Given the description of an element on the screen output the (x, y) to click on. 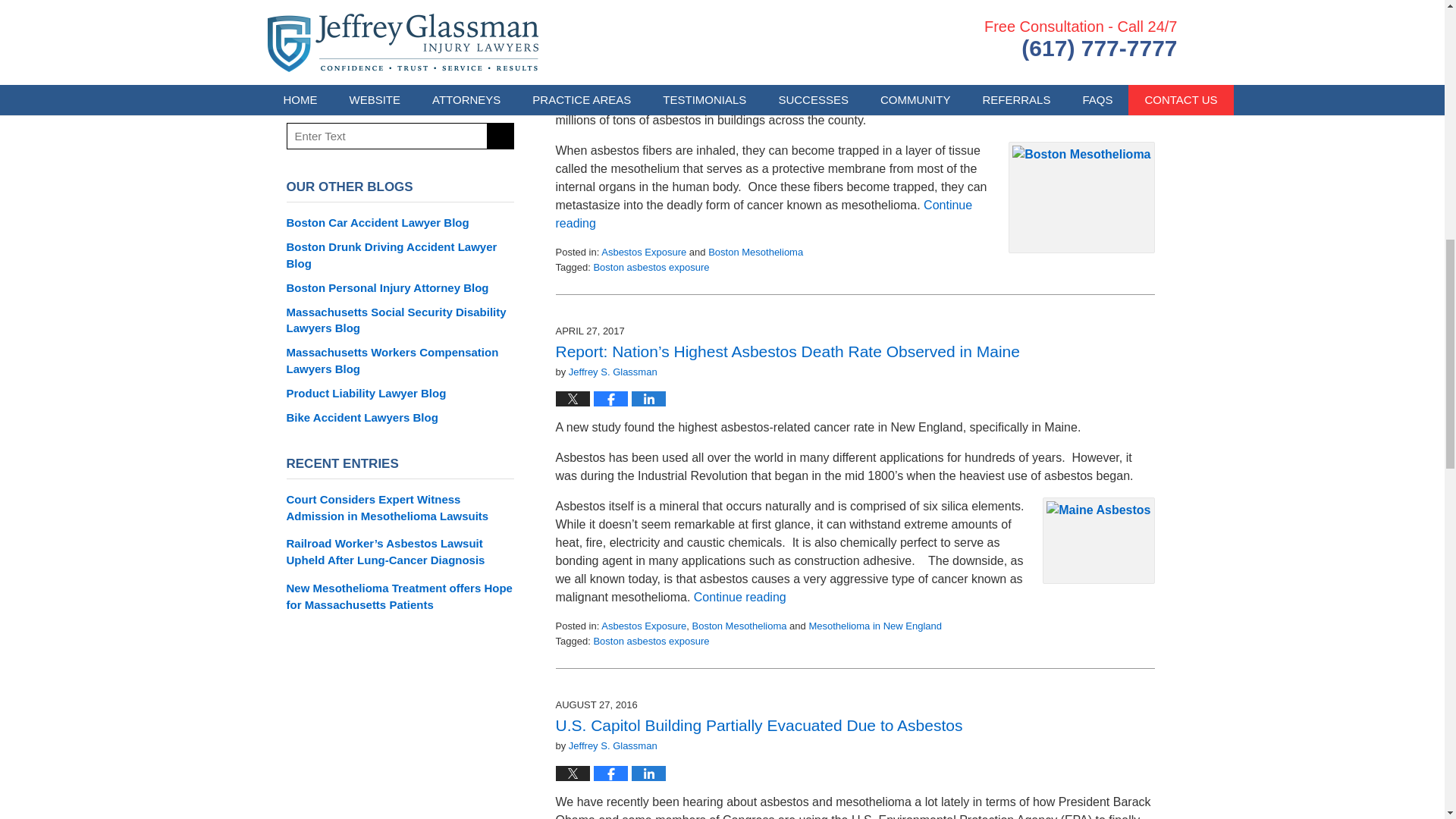
View all posts tagged with Boston asbestos exposure (650, 641)
Boston Herald (829, 65)
Boston asbestos exposure (650, 266)
View all posts in Boston Mesothelioma (755, 251)
Boston Mesothelioma (755, 251)
View all posts in Mesothelioma in New England (875, 625)
View all posts in Asbestos Exposure (643, 625)
Jeffrey S. Glassman (613, 371)
Continue reading (763, 214)
Asbestos Exposure (643, 251)
